Given the description of an element on the screen output the (x, y) to click on. 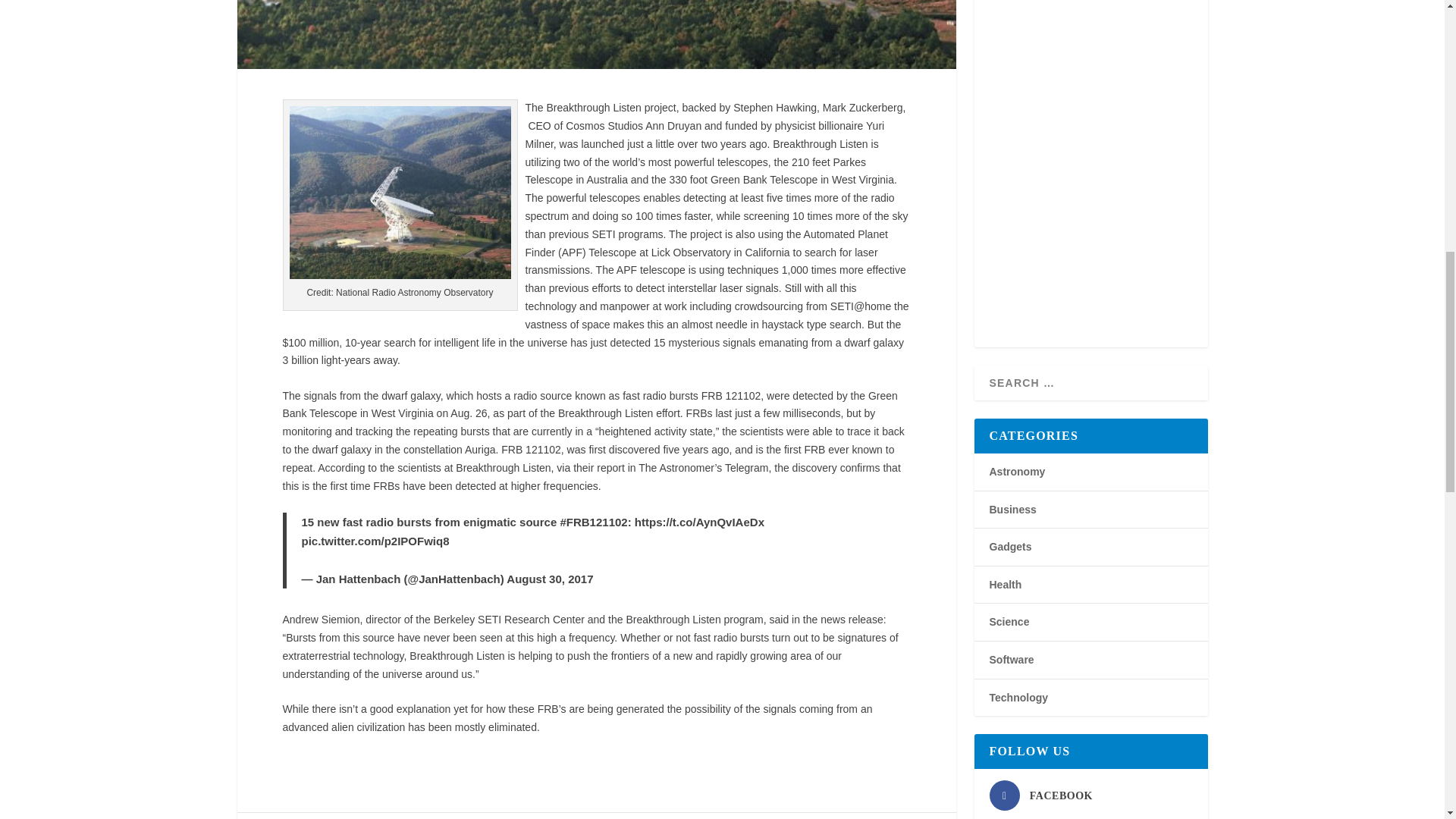
August 30, 2017 (549, 578)
